Given the description of an element on the screen output the (x, y) to click on. 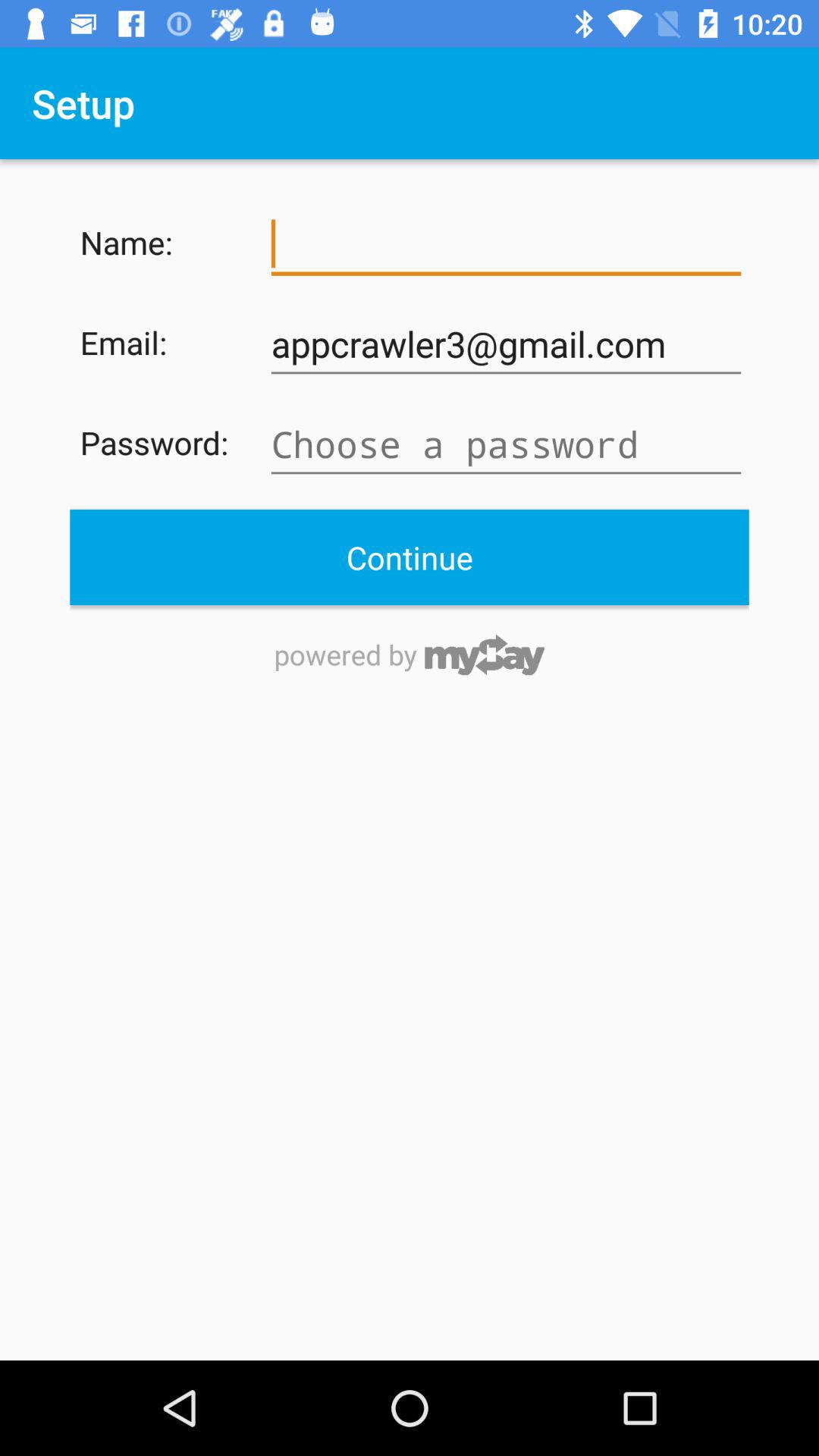
turn on the item next to the email: (506, 344)
